Given the description of an element on the screen output the (x, y) to click on. 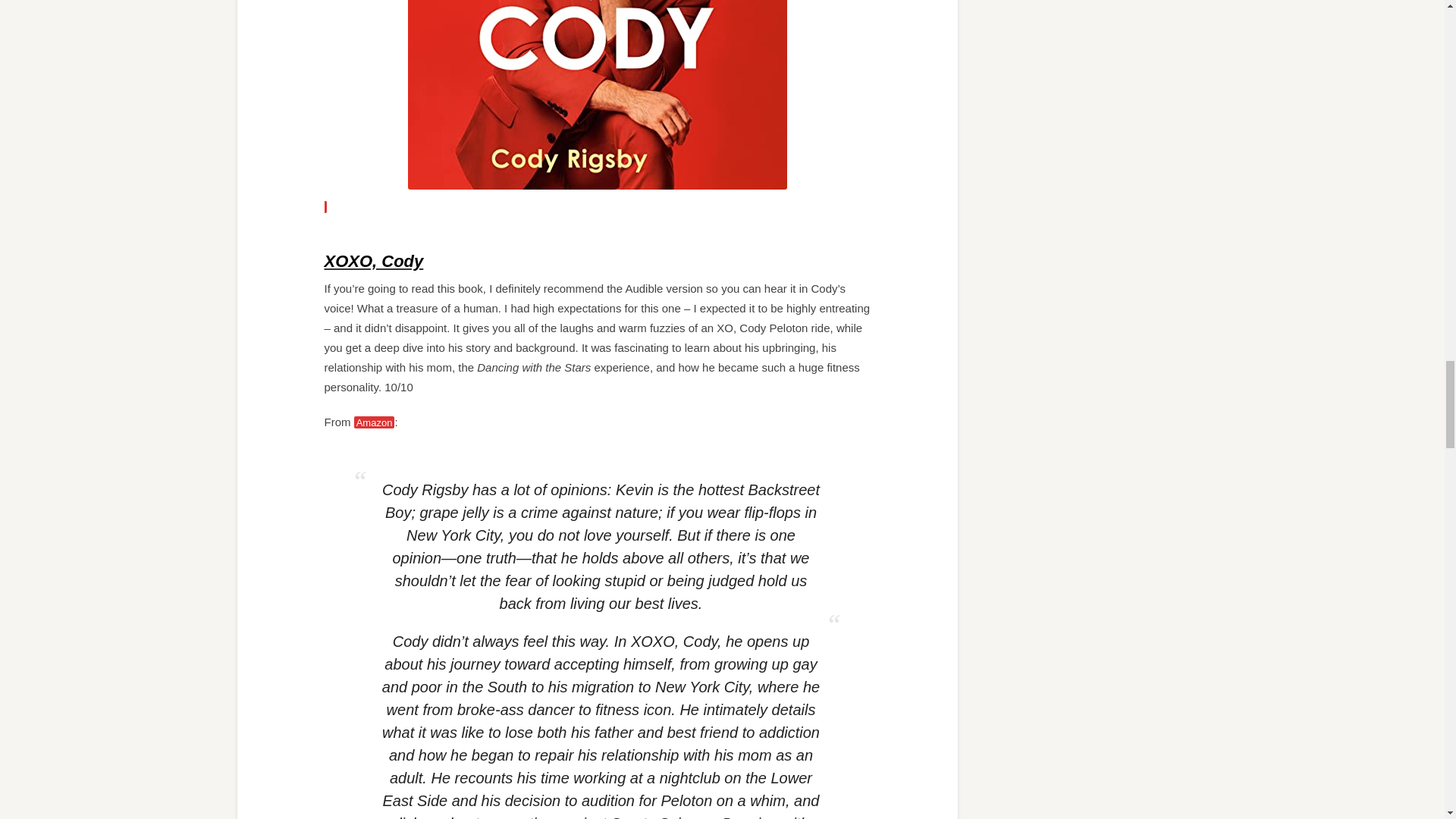
XOXO, Cody (373, 261)
Amazon (373, 422)
